Given the description of an element on the screen output the (x, y) to click on. 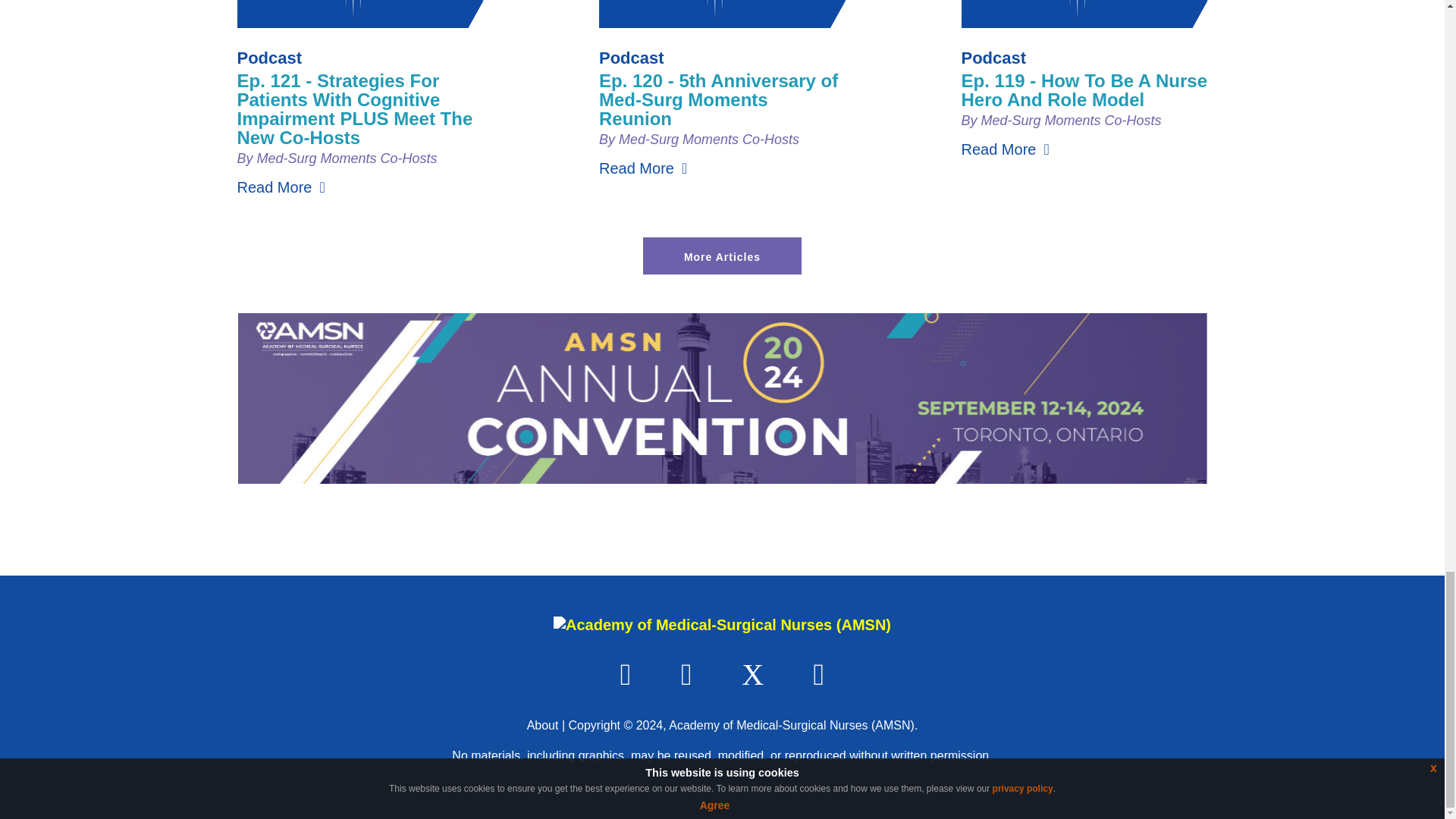
2024 Annual Convention (722, 478)
